Given the description of an element on the screen output the (x, y) to click on. 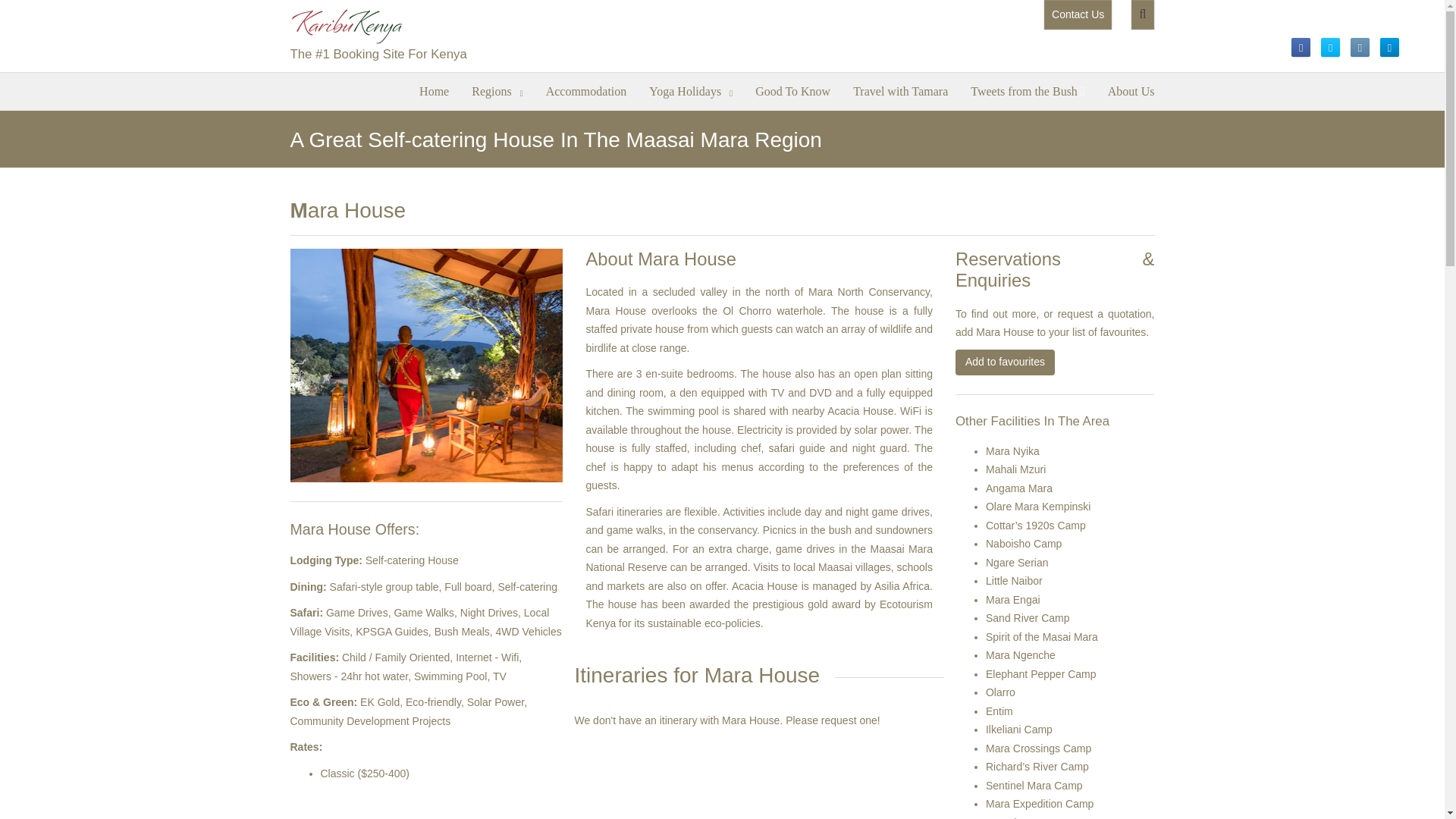
Tweets from the Bush (1027, 90)
About Us (1131, 90)
Add to favourites (1004, 362)
Good To Know (792, 90)
Mara Nyika (1012, 451)
Regions (497, 90)
Accommodation (586, 90)
Home (433, 90)
Yoga Holidays (690, 90)
Travel with Tamara (900, 90)
